Given the description of an element on the screen output the (x, y) to click on. 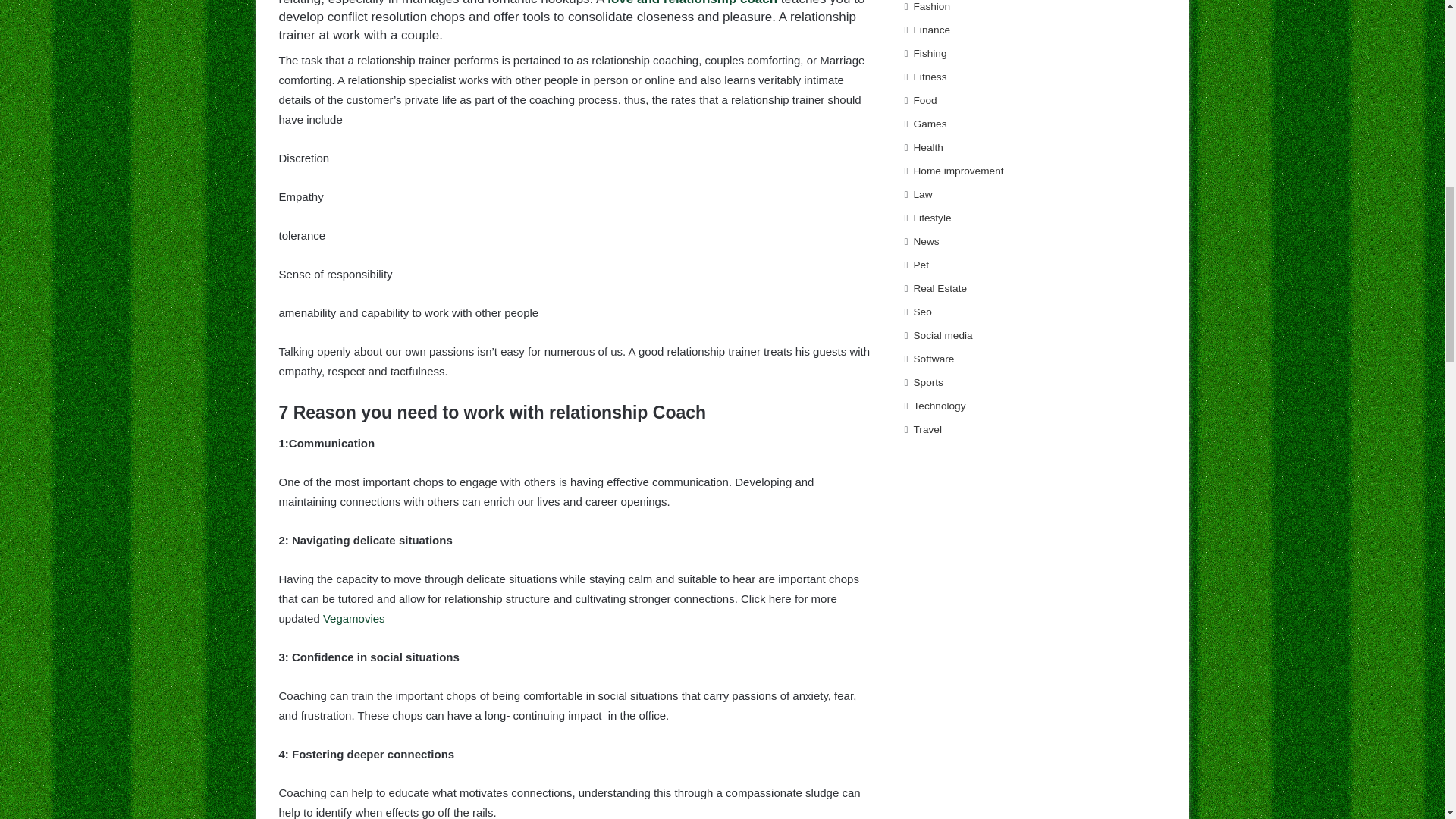
Vegamovies (354, 617)
love and relationship coach (692, 2)
